Given the description of an element on the screen output the (x, y) to click on. 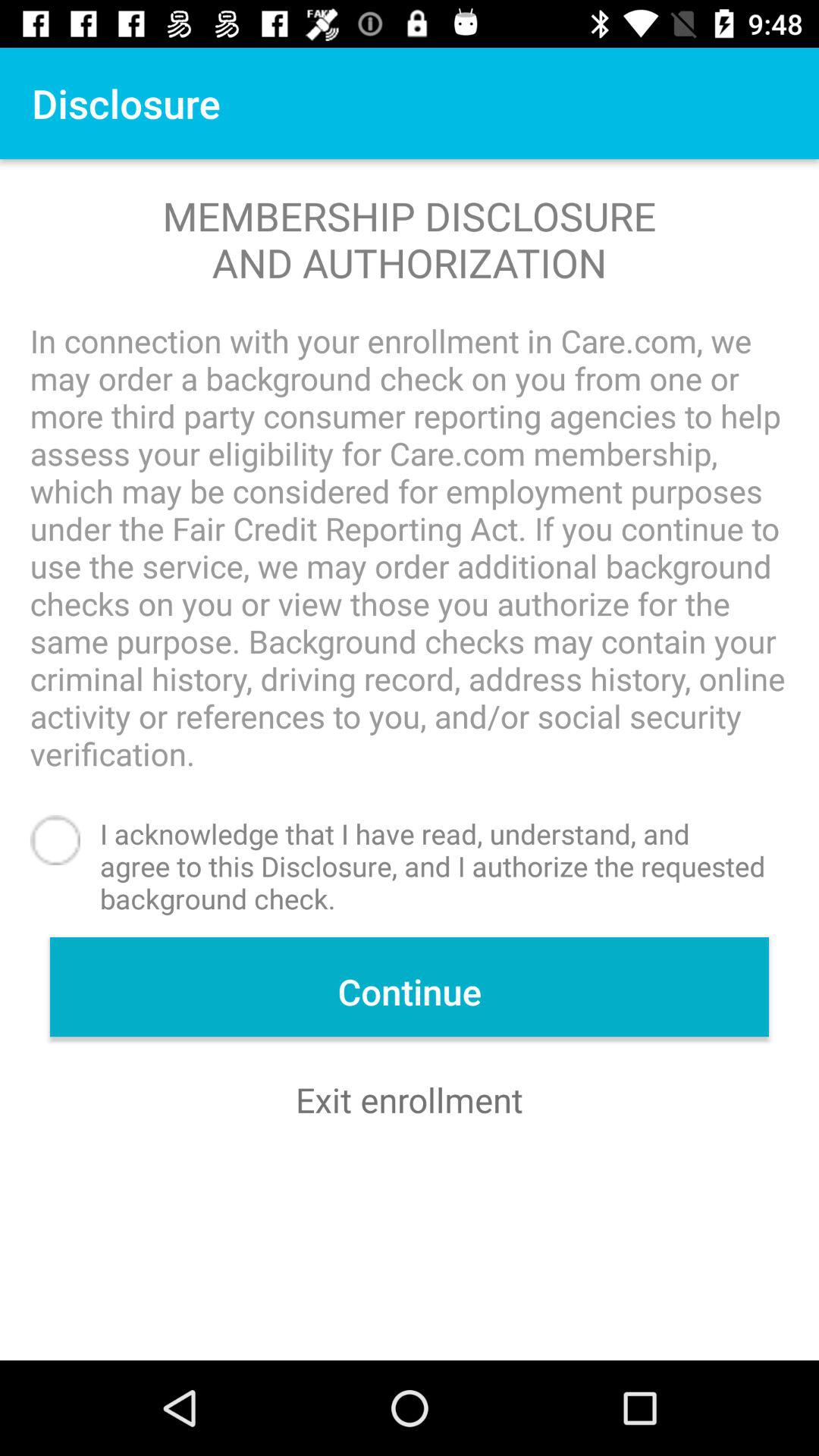
select the item below i acknowledge that (409, 986)
